Given the description of an element on the screen output the (x, y) to click on. 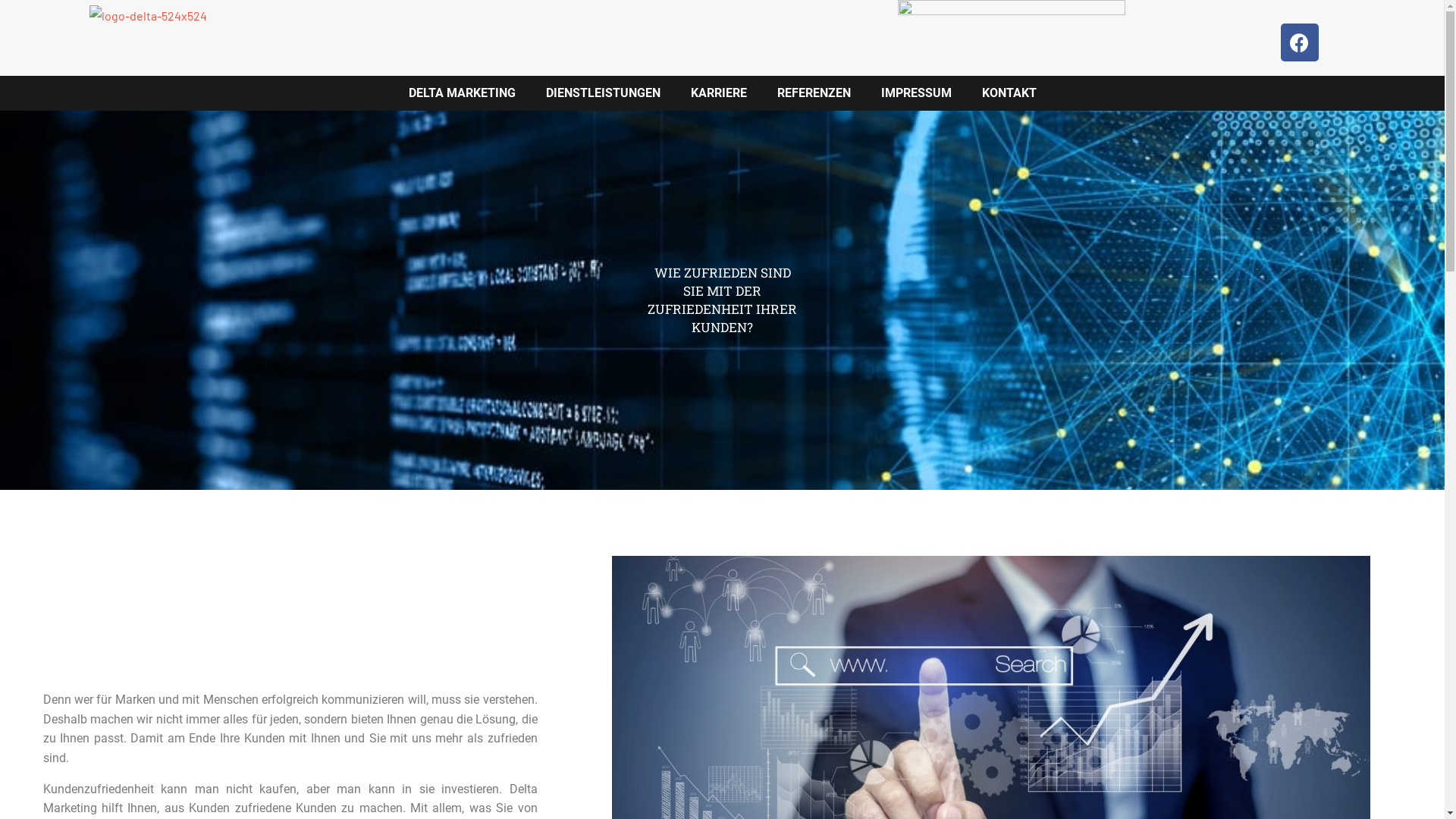
IMPRESSUM Element type: text (916, 92)
KONTAKT Element type: text (1008, 92)
REFERENZEN Element type: text (813, 92)
DELTA MARKETING Element type: text (461, 92)
DIENSTLEISTUNGEN Element type: text (602, 92)
KARRIERE Element type: text (717, 92)
